Given the description of an element on the screen output the (x, y) to click on. 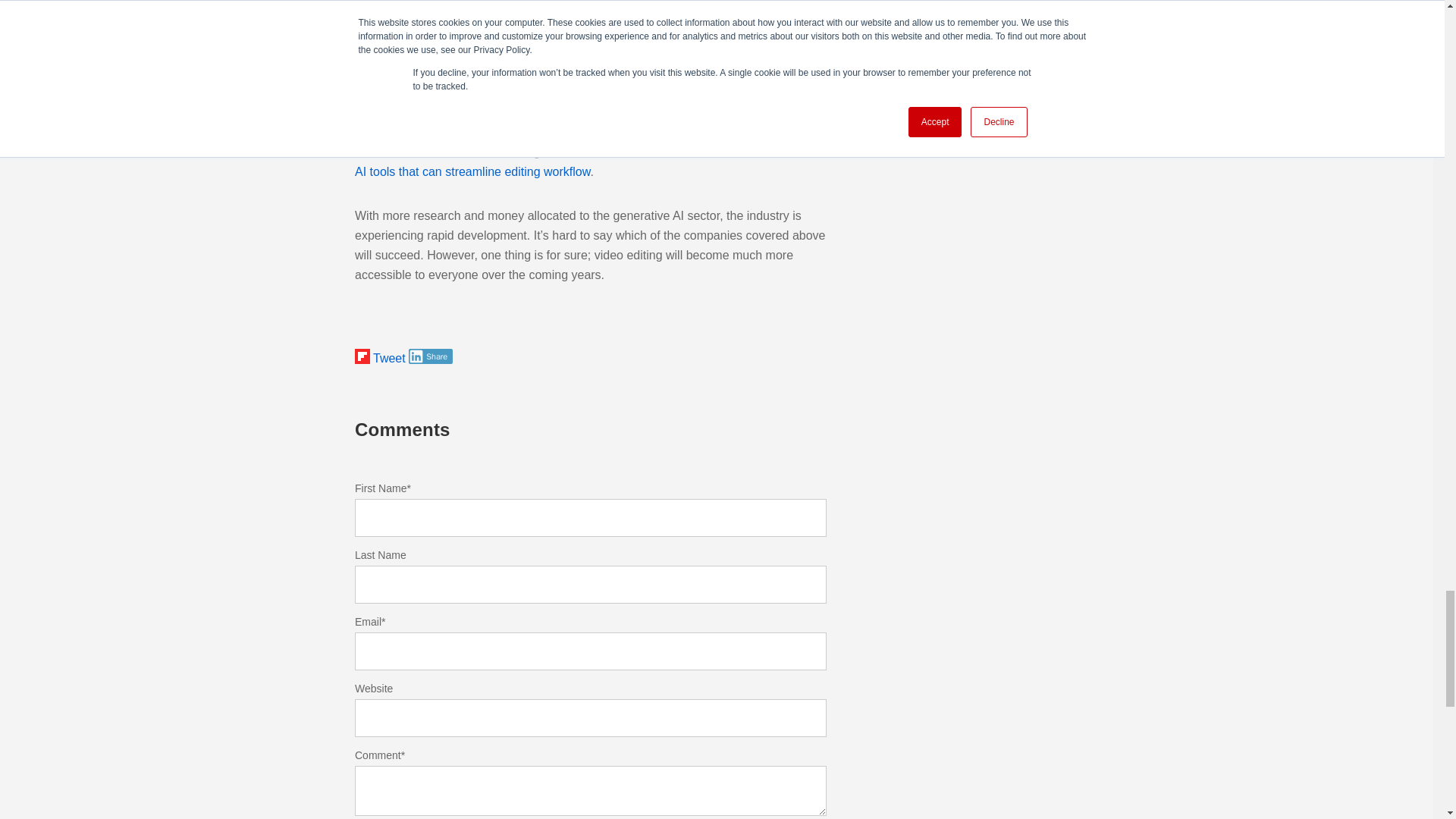
AI tools that can streamline editing workflow (472, 171)
Share (430, 355)
Tweet (389, 358)
